Given the description of an element on the screen output the (x, y) to click on. 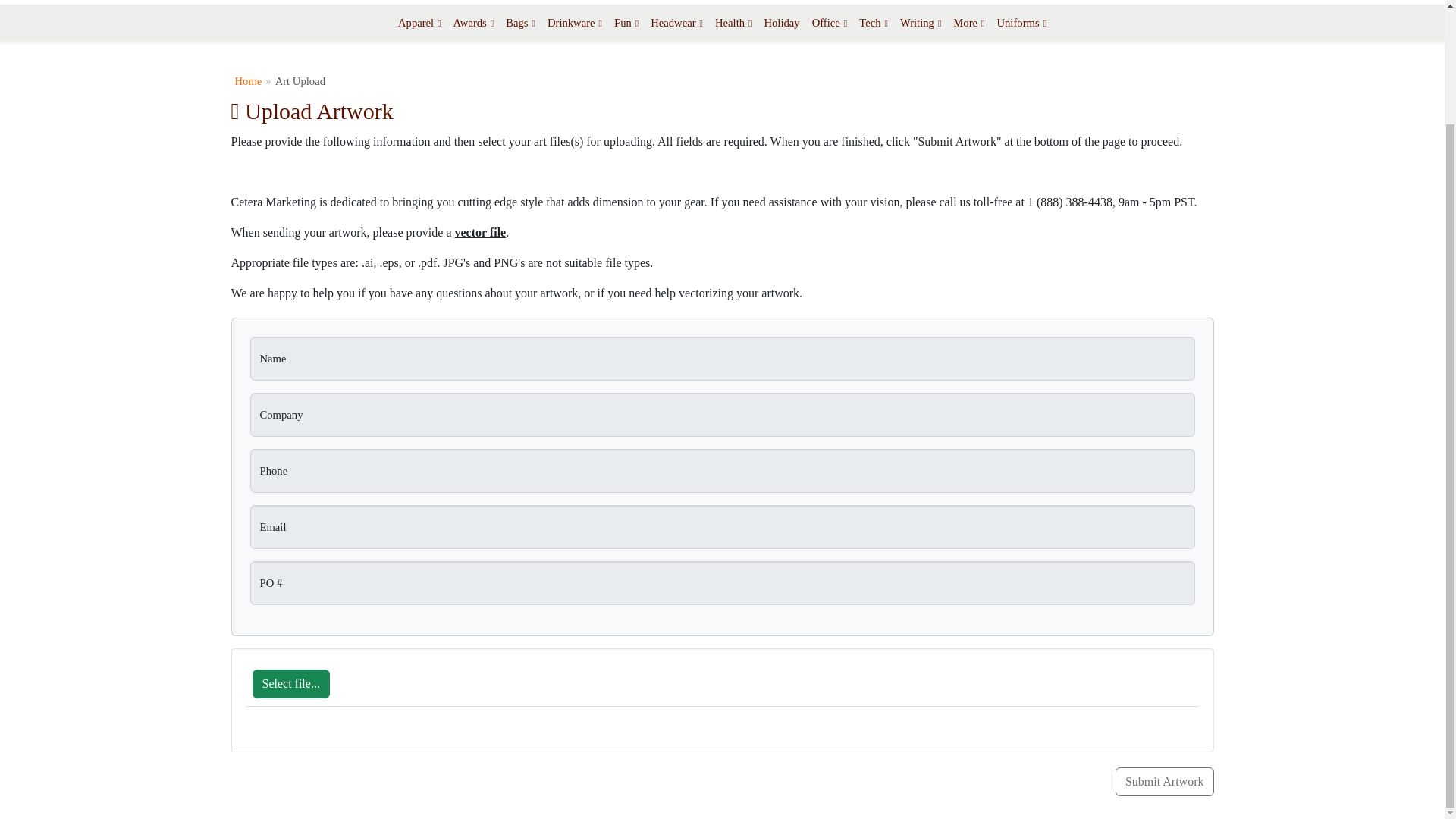
Apparel (418, 22)
Submit Artwork (1164, 781)
